Given the description of an element on the screen output the (x, y) to click on. 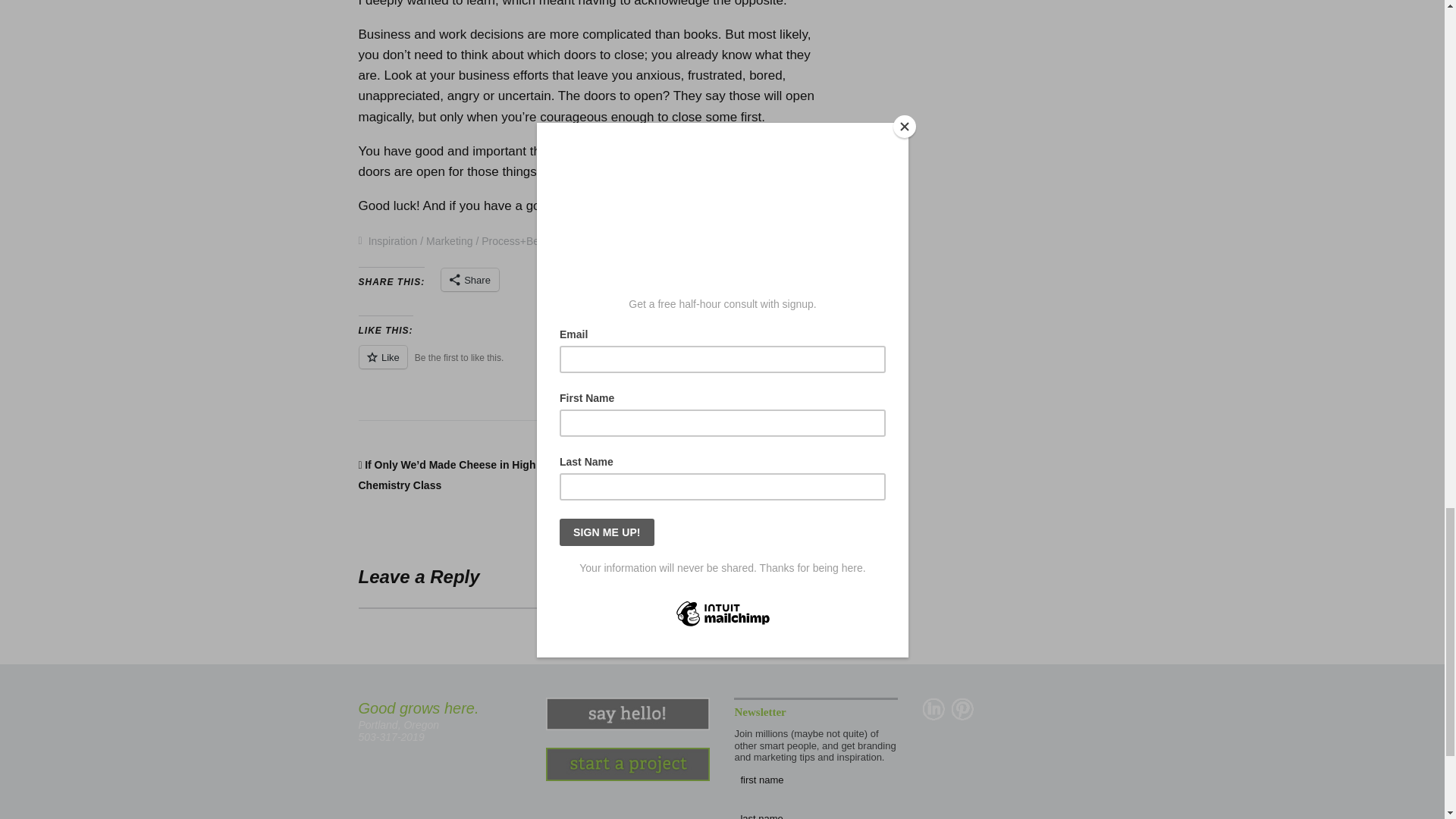
Inspiration (392, 241)
Share (470, 279)
Marketing (448, 241)
Say hello (628, 713)
Like or Reblog (593, 365)
Start a Project button (628, 763)
